Given the description of an element on the screen output the (x, y) to click on. 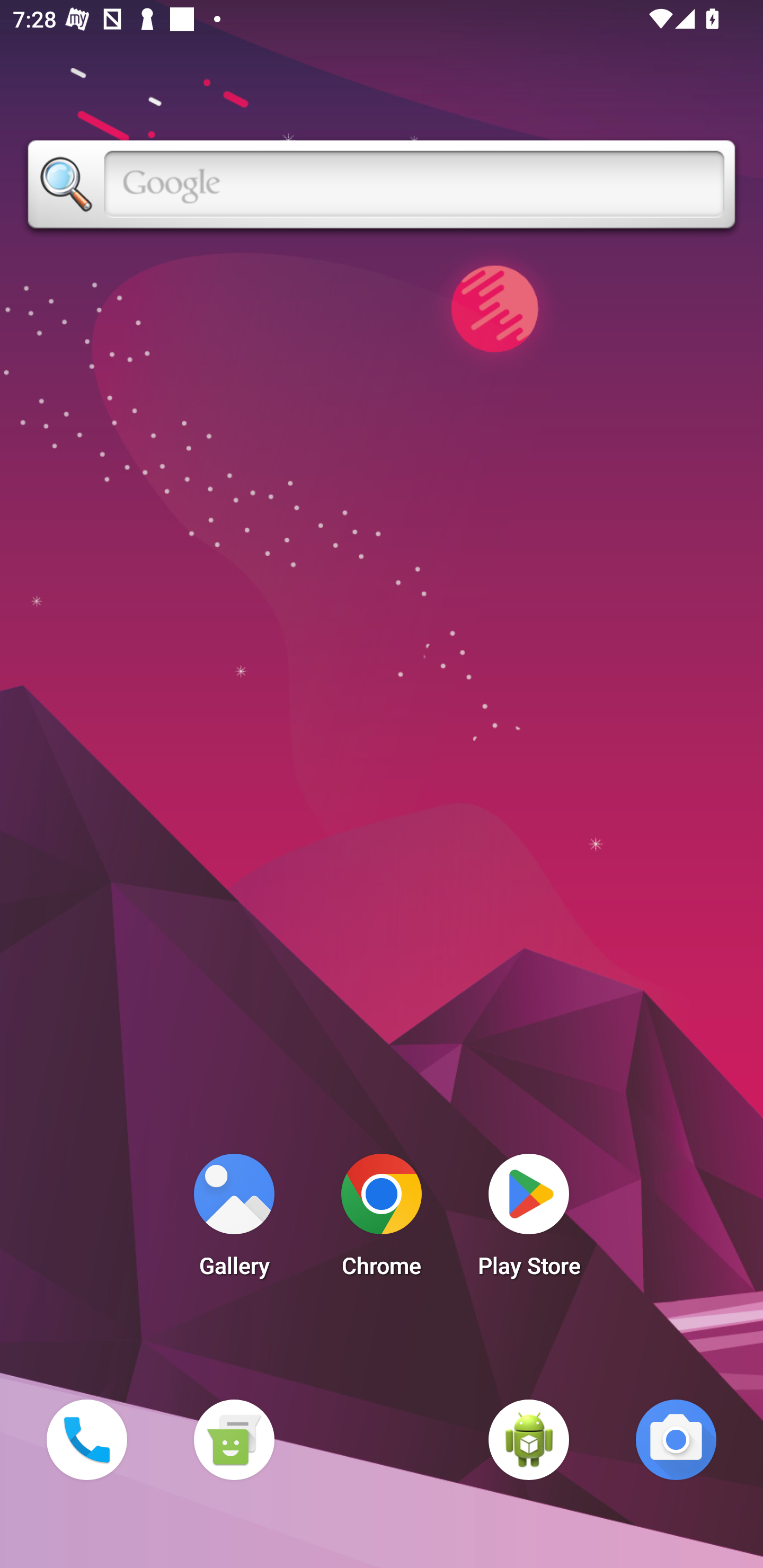
Gallery (233, 1220)
Chrome (381, 1220)
Play Store (528, 1220)
Phone (86, 1439)
Messaging (233, 1439)
WebView Browser Tester (528, 1439)
Camera (676, 1439)
